Given the description of an element on the screen output the (x, y) to click on. 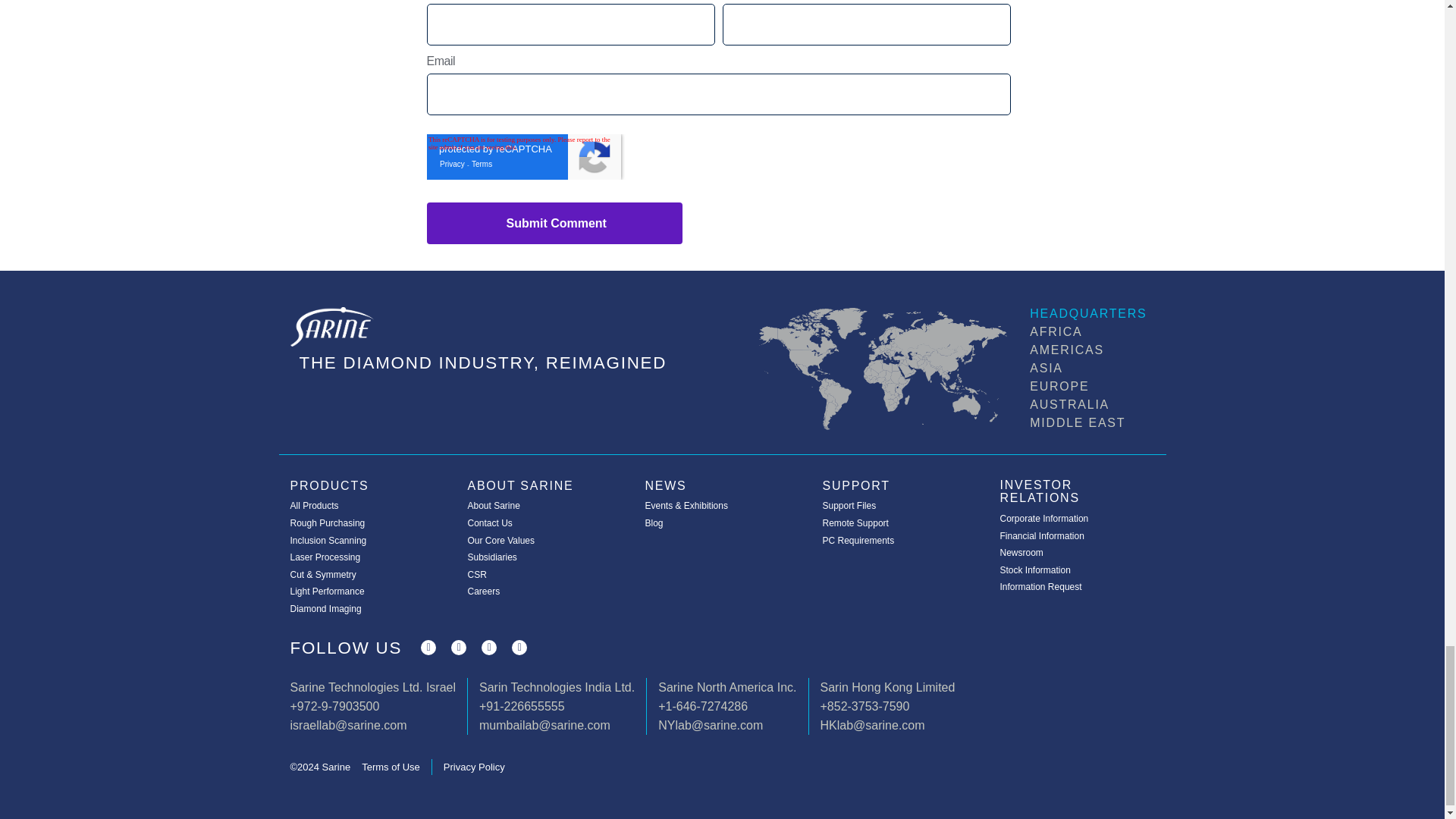
Submit Comment (553, 223)
reCAPTCHA (523, 156)
